Given the description of an element on the screen output the (x, y) to click on. 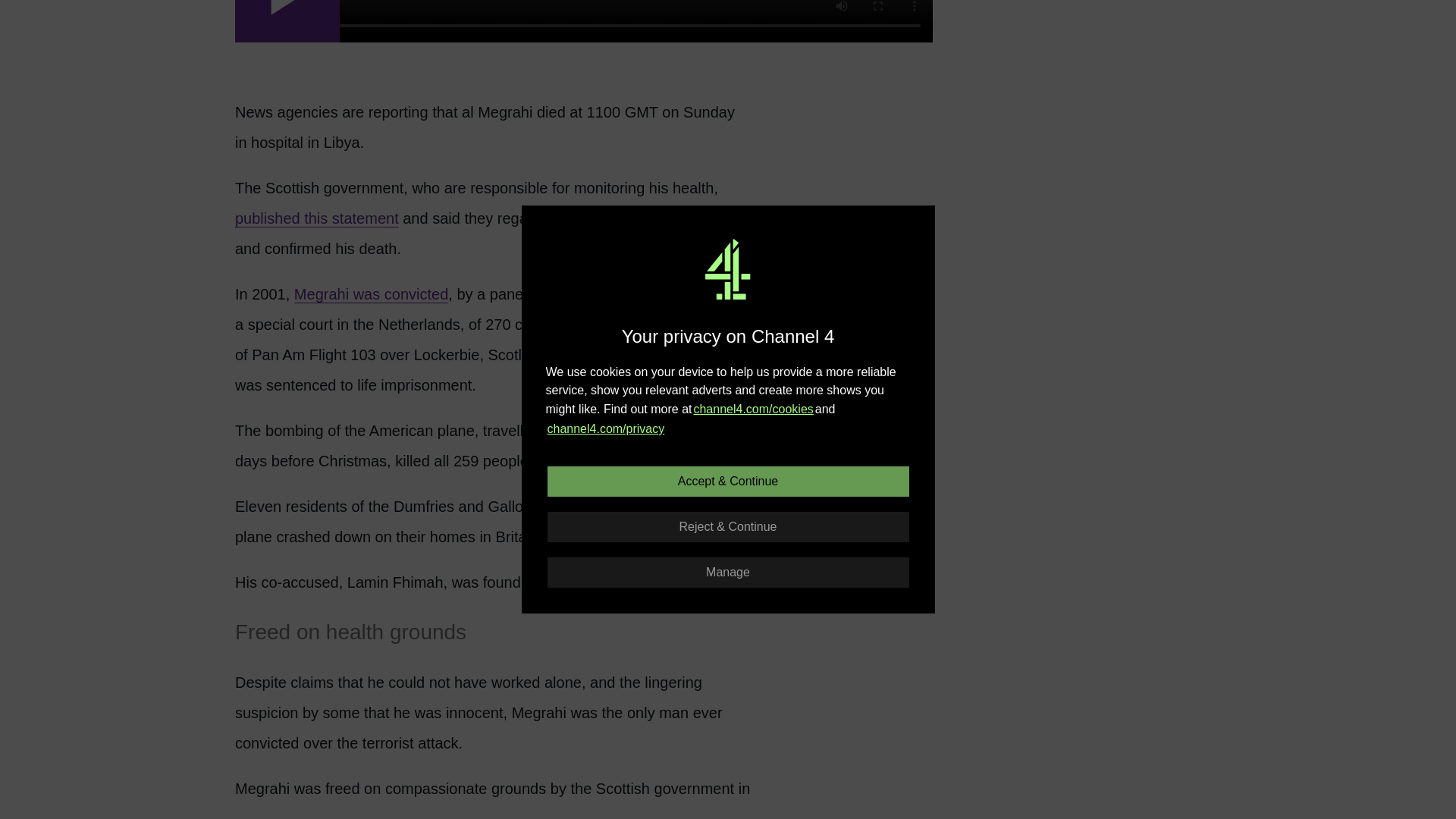
Play Video (286, 21)
Play Video (286, 21)
